Given the description of an element on the screen output the (x, y) to click on. 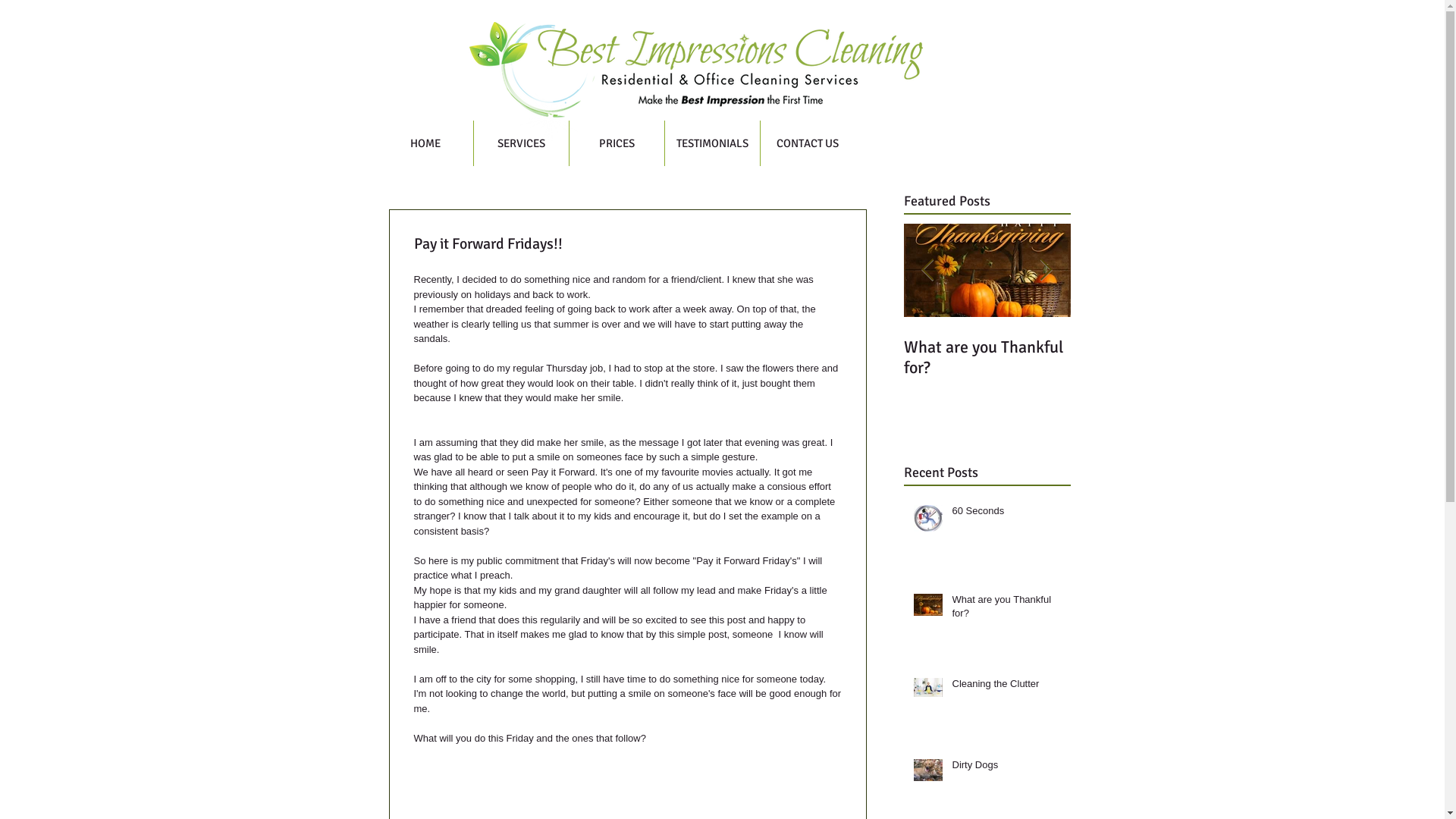
Dirty Dogs Element type: text (1006, 768)
SERVICES Element type: text (520, 143)
CONTACT US Element type: text (806, 143)
PRICES Element type: text (615, 143)
60 Seconds Element type: text (833, 346)
60 Seconds Element type: text (1006, 514)
TESTIMONIALS Element type: text (711, 143)
What are you Thankful for? Element type: text (996, 356)
Cleaning the Clutter Element type: text (1006, 686)
Cleaning the Clutter Element type: text (1162, 346)
What are you Thankful for? Element type: text (1006, 609)
Dirty Dogs Element type: text (1325, 346)
HOME Element type: text (425, 143)
